Given the description of an element on the screen output the (x, y) to click on. 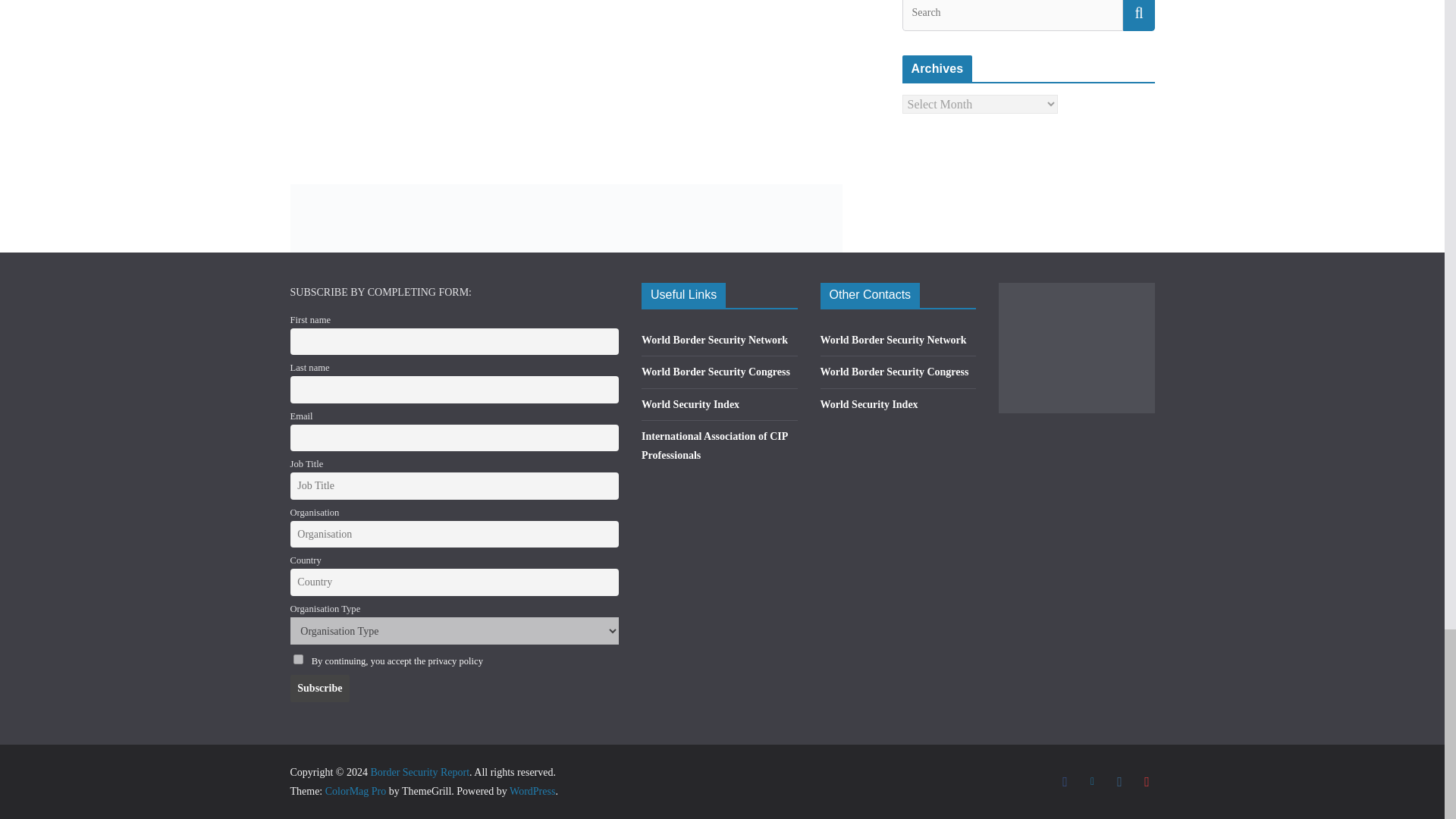
Subscribe (319, 687)
Border Security Report (418, 772)
on (297, 659)
